Given the description of an element on the screen output the (x, y) to click on. 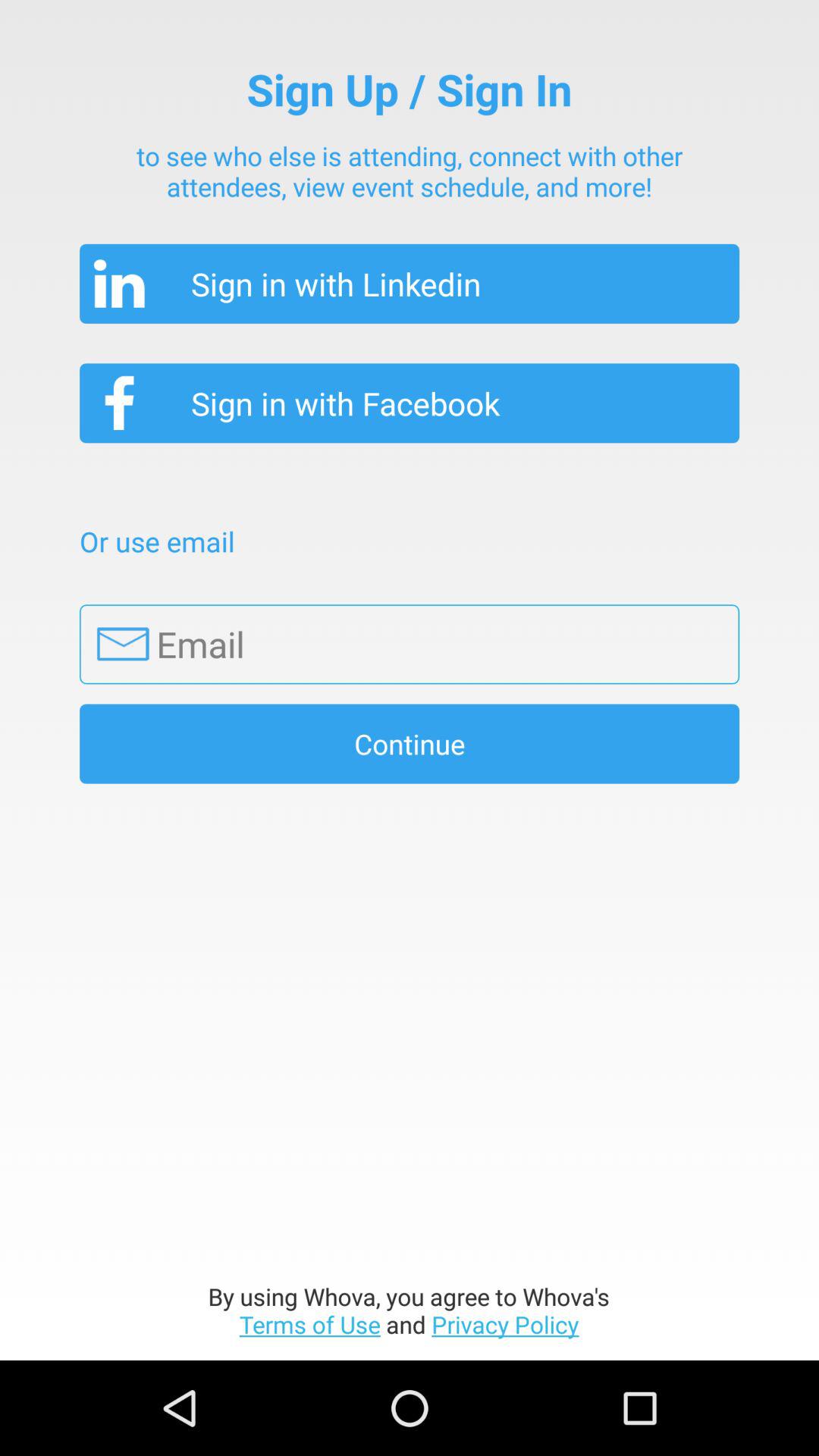
enter email (409, 644)
